Given the description of an element on the screen output the (x, y) to click on. 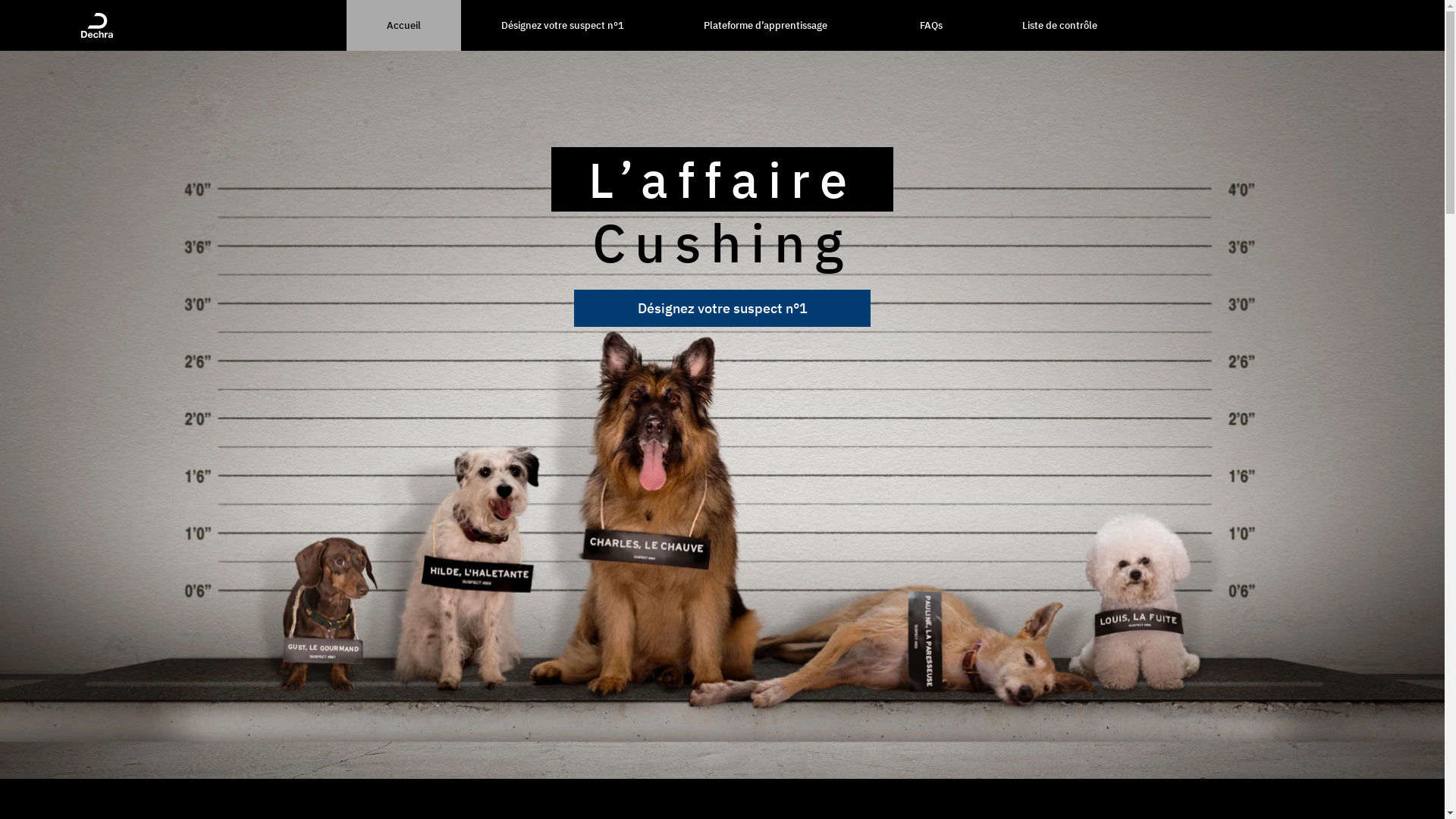
FAQs Element type: text (930, 25)
Accueil Element type: text (403, 25)
